Given the description of an element on the screen output the (x, y) to click on. 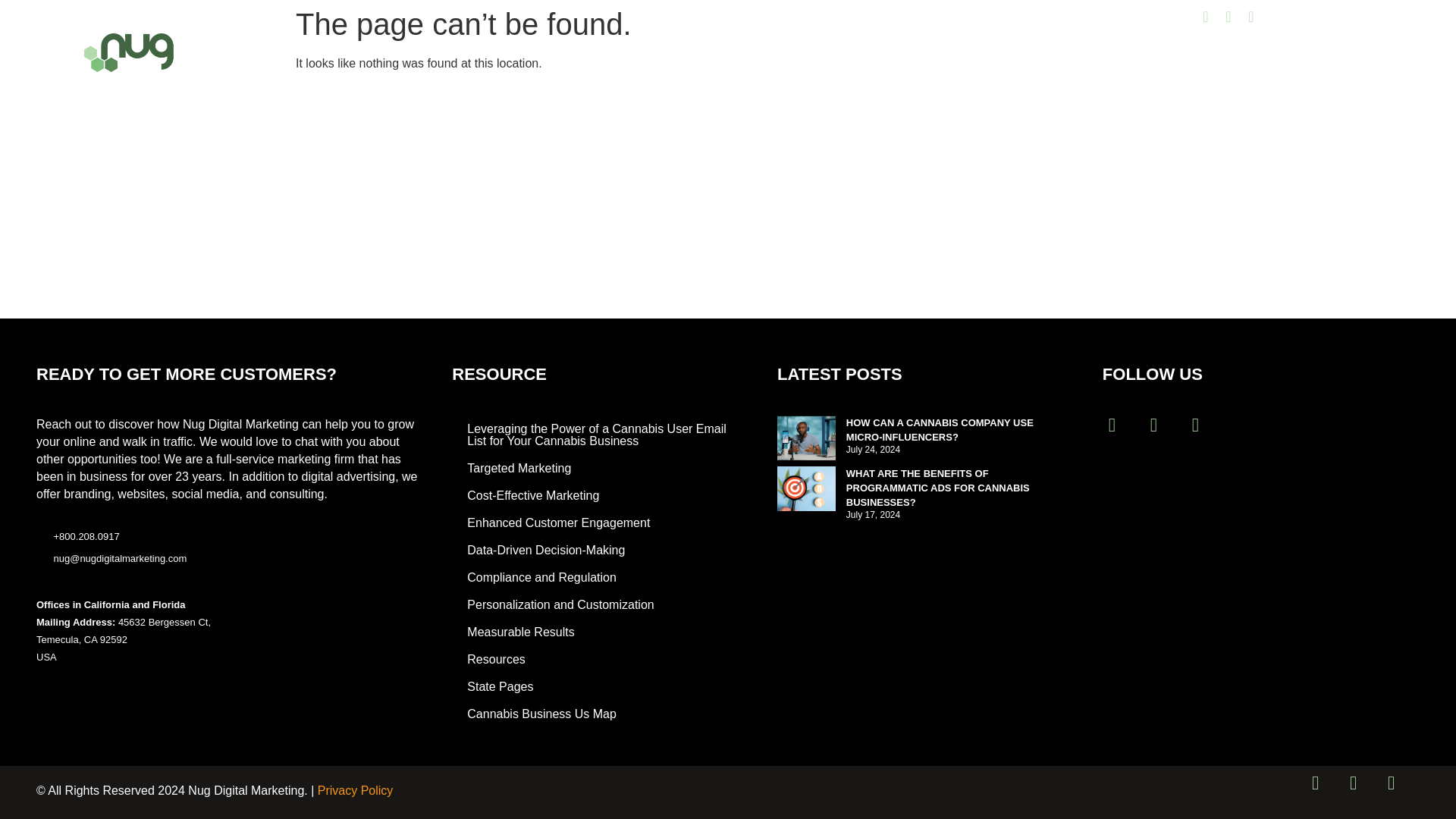
WHAT WE DO (433, 53)
CONTACT US (856, 53)
NUGBUZZ (757, 53)
PORTFOLIO (543, 53)
CASE STUDIES (653, 53)
800.208.0917 (947, 16)
HOME (340, 53)
